Given the description of an element on the screen output the (x, y) to click on. 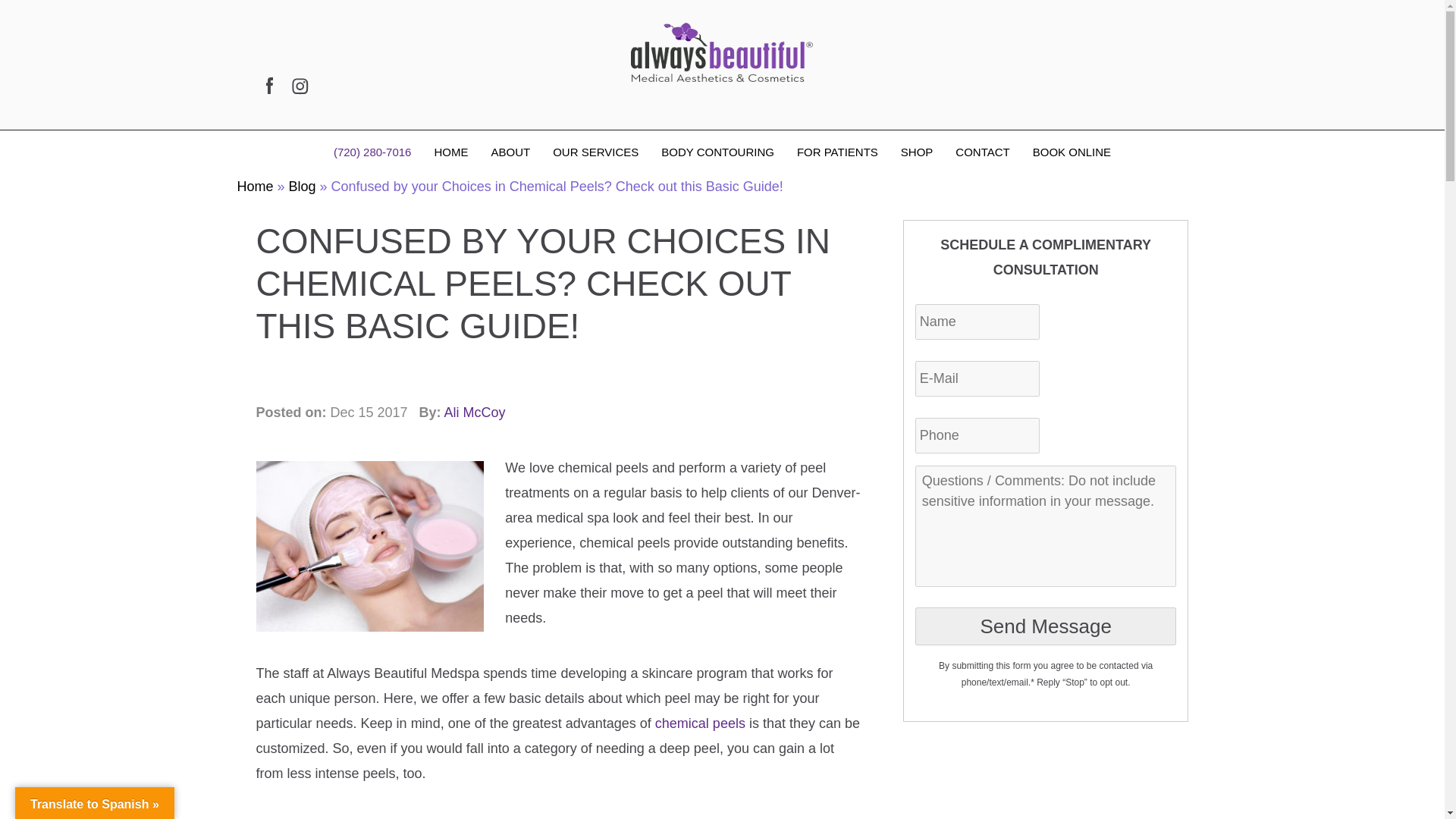
Send Message (1045, 626)
Posts by Ali McCoy (474, 412)
HOME (450, 152)
ABOUT (510, 152)
OUR SERVICES (595, 152)
